Given the description of an element on the screen output the (x, y) to click on. 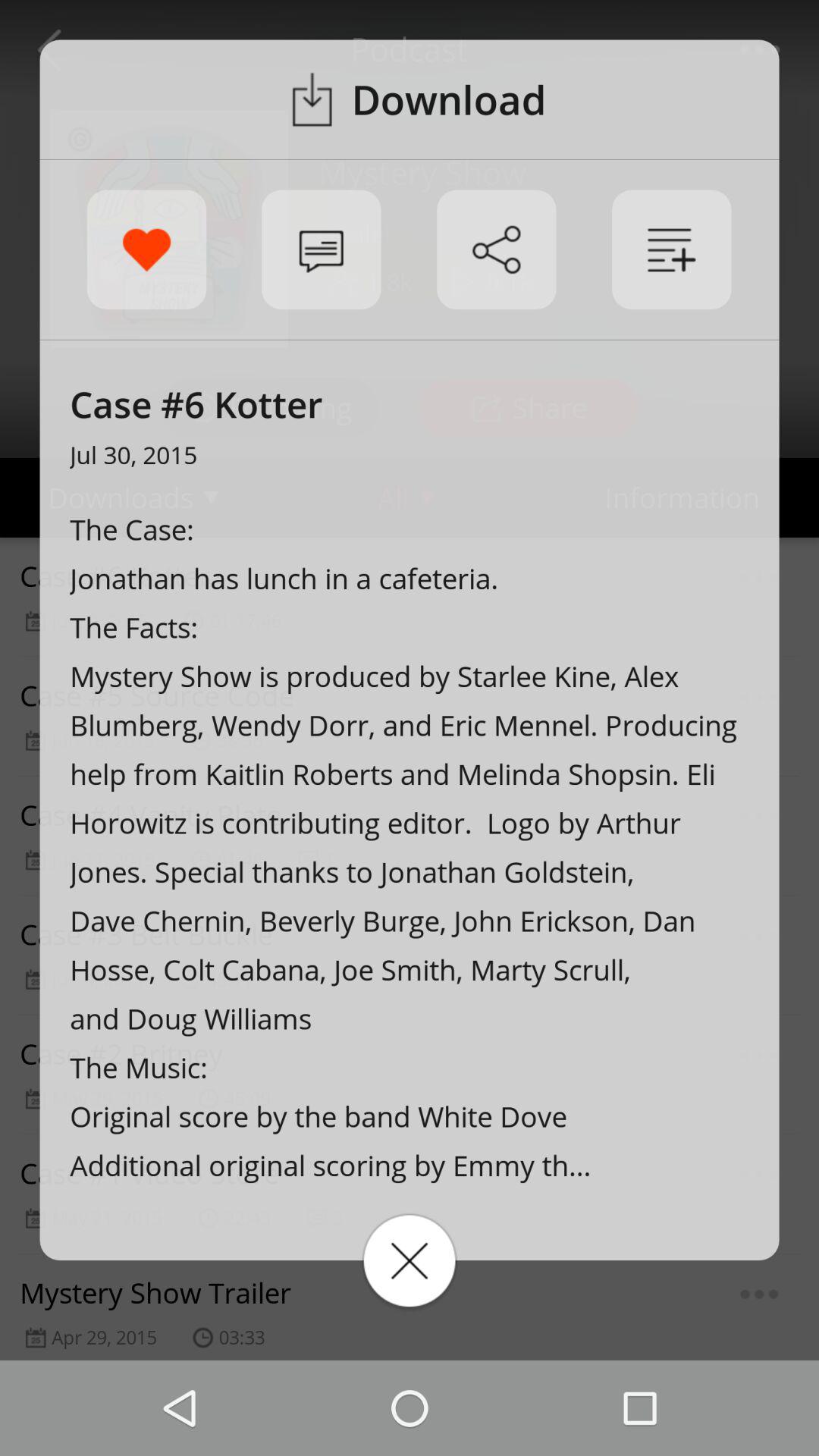
launch item at the top left corner (146, 249)
